Given the description of an element on the screen output the (x, y) to click on. 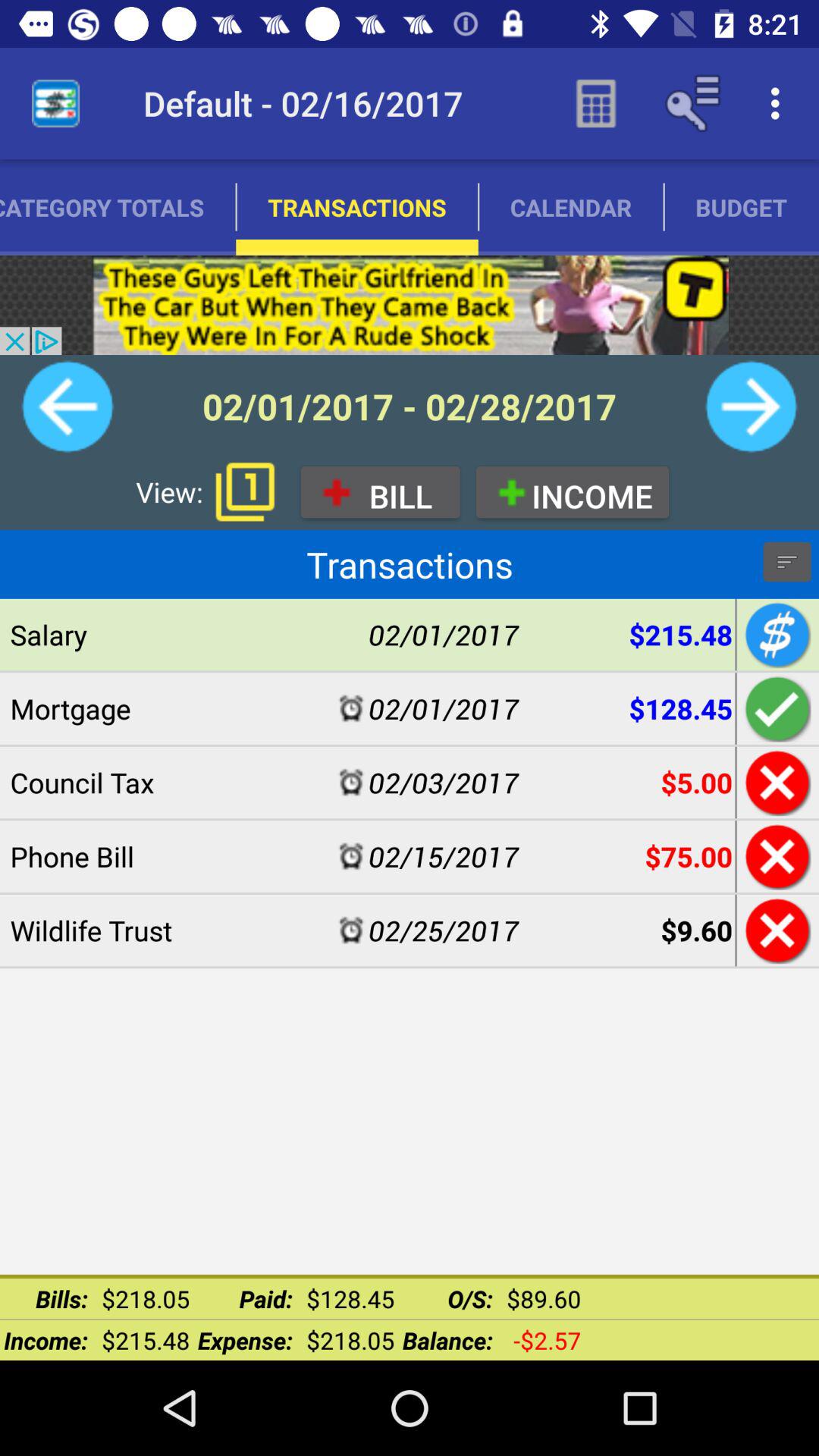
click to add (775, 708)
